Given the description of an element on the screen output the (x, y) to click on. 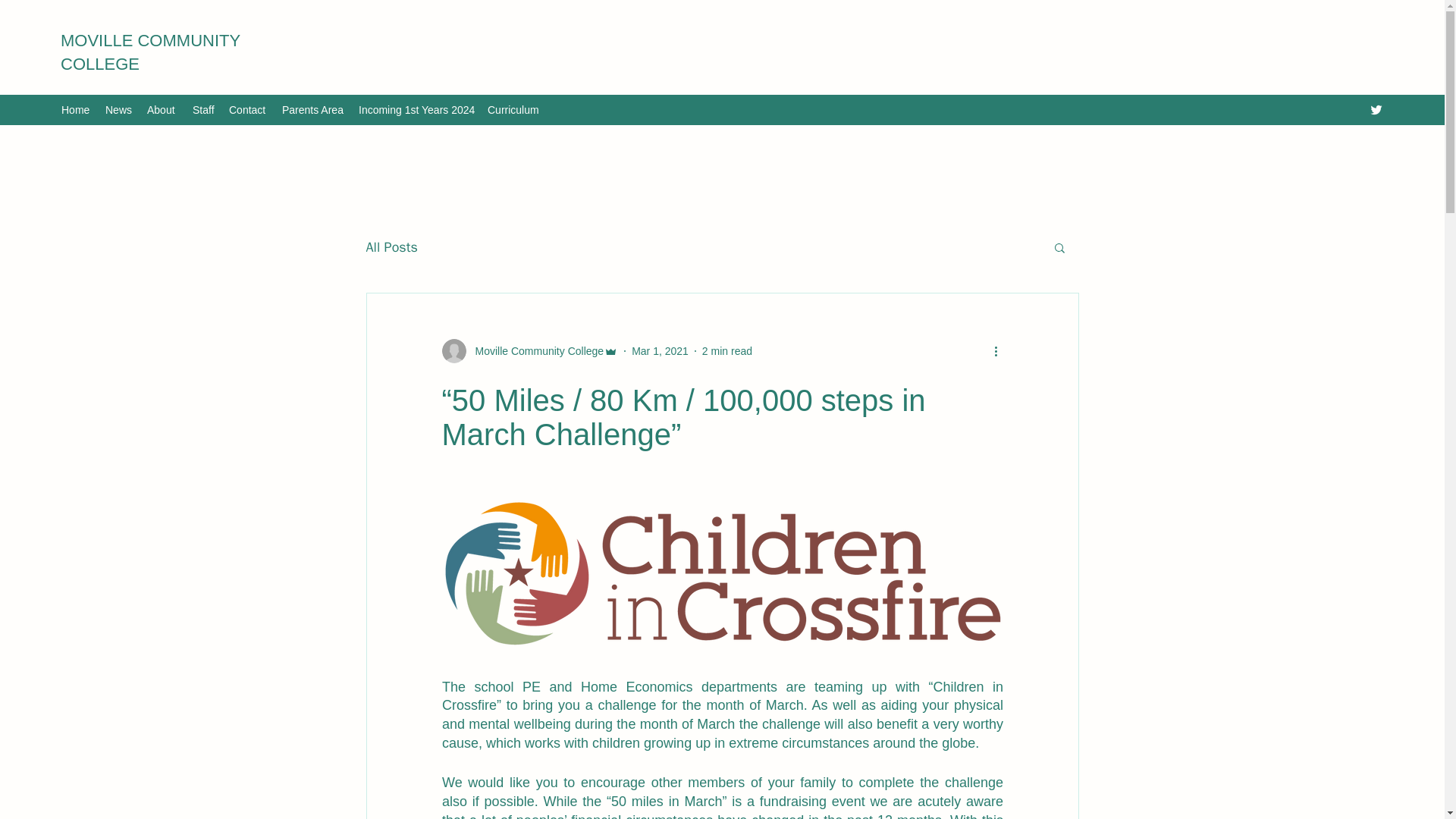
Mar 1, 2021 (659, 350)
Moville Community College (534, 351)
About (161, 109)
Home (75, 109)
Contact (248, 109)
Staff (202, 109)
MOVILLE COMMUNITY COLLEGE (150, 52)
News (118, 109)
All Posts (390, 247)
2 min read (726, 350)
Parents Area (312, 109)
